Given the description of an element on the screen output the (x, y) to click on. 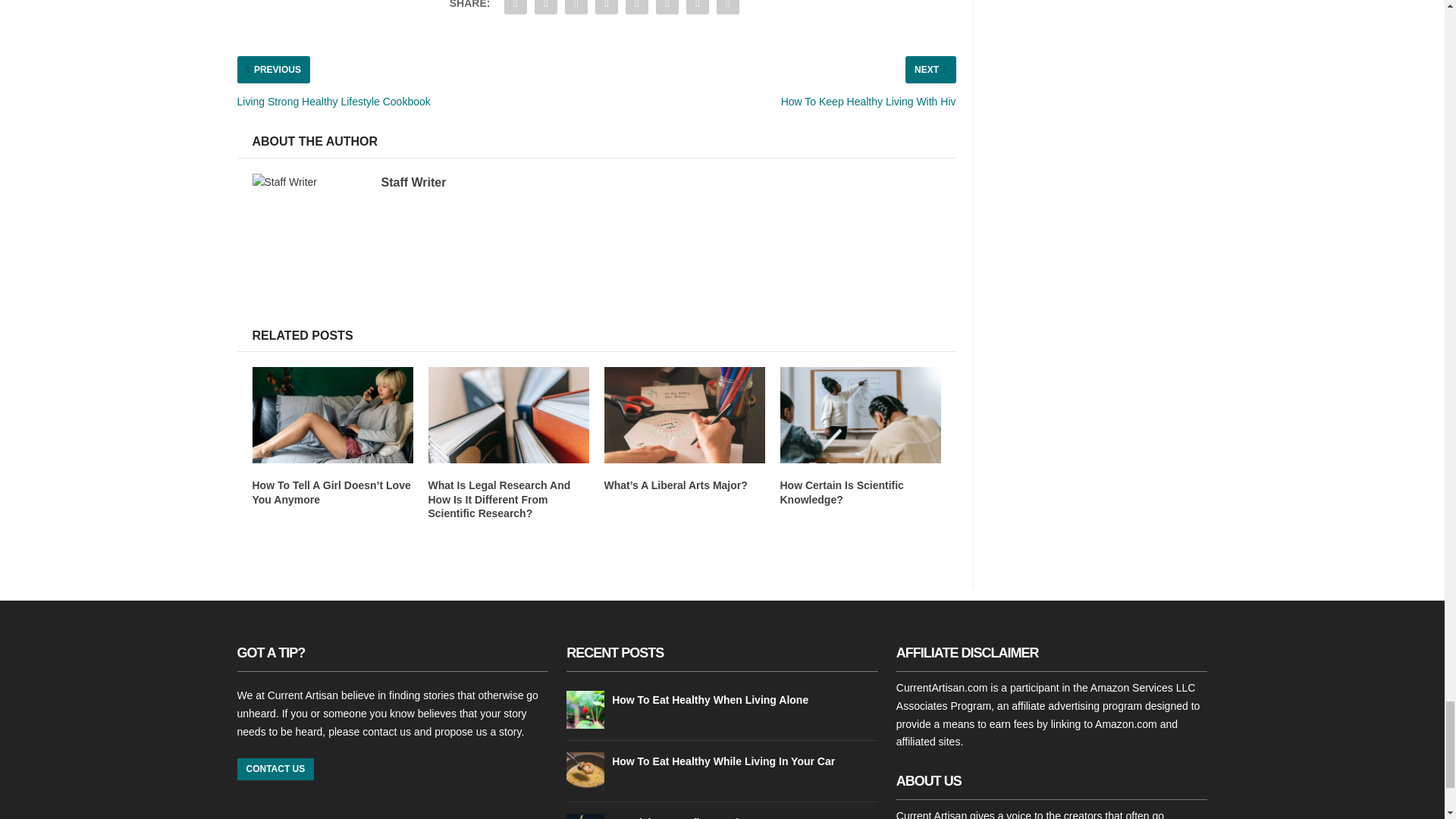
How Certain Is Scientific Knowledge? (840, 492)
Staff Writer (412, 182)
View all posts by Staff Writer (412, 182)
